Given the description of an element on the screen output the (x, y) to click on. 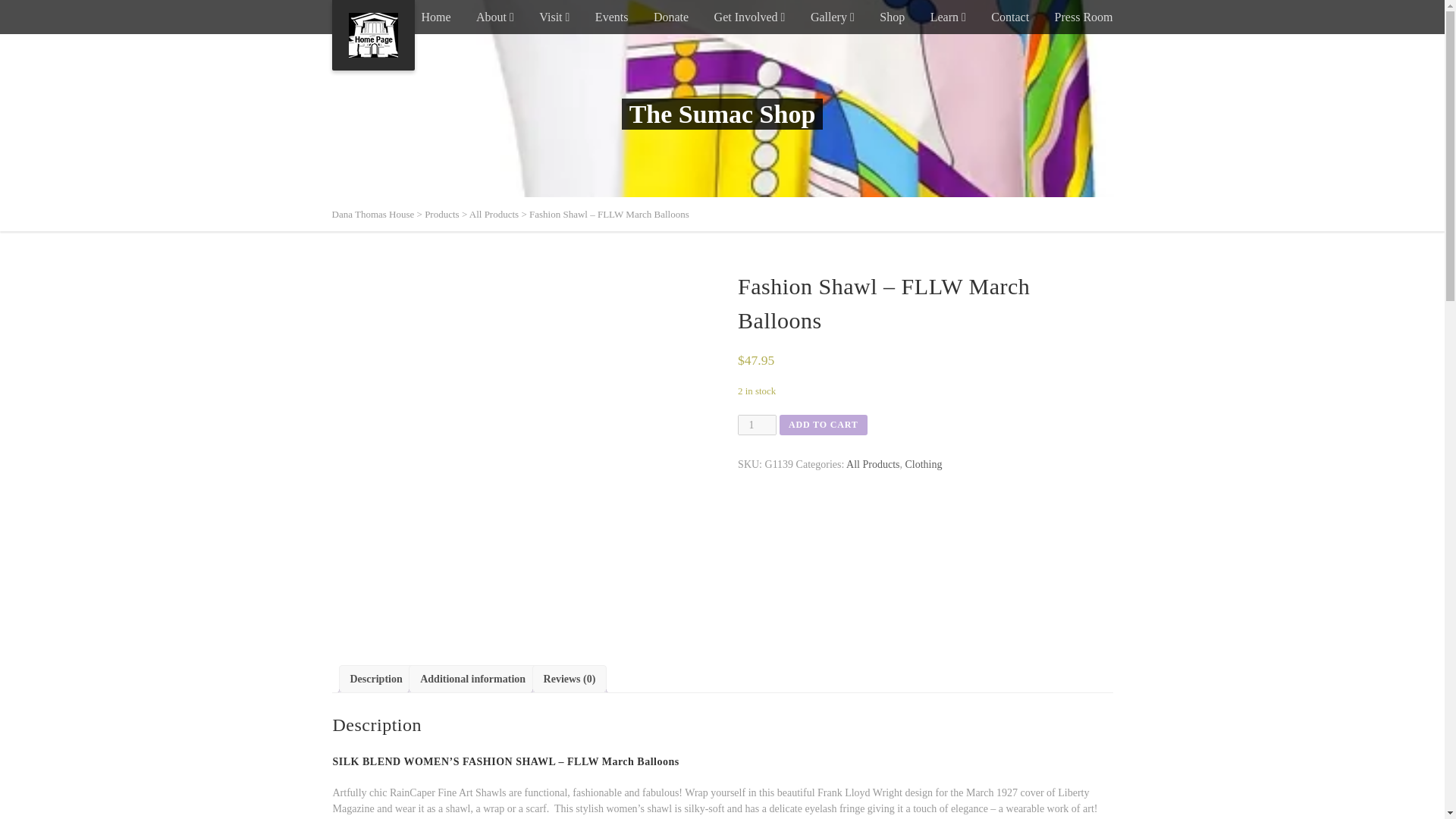
Press Room (1083, 17)
All Products (493, 214)
Products (442, 214)
Visit (553, 17)
Dana Thomas House (372, 214)
Clothing (923, 464)
Go to Dana Thomas House. (372, 214)
Dana Thomas House (373, 35)
1 (757, 424)
Learn (948, 17)
